Given the description of an element on the screen output the (x, y) to click on. 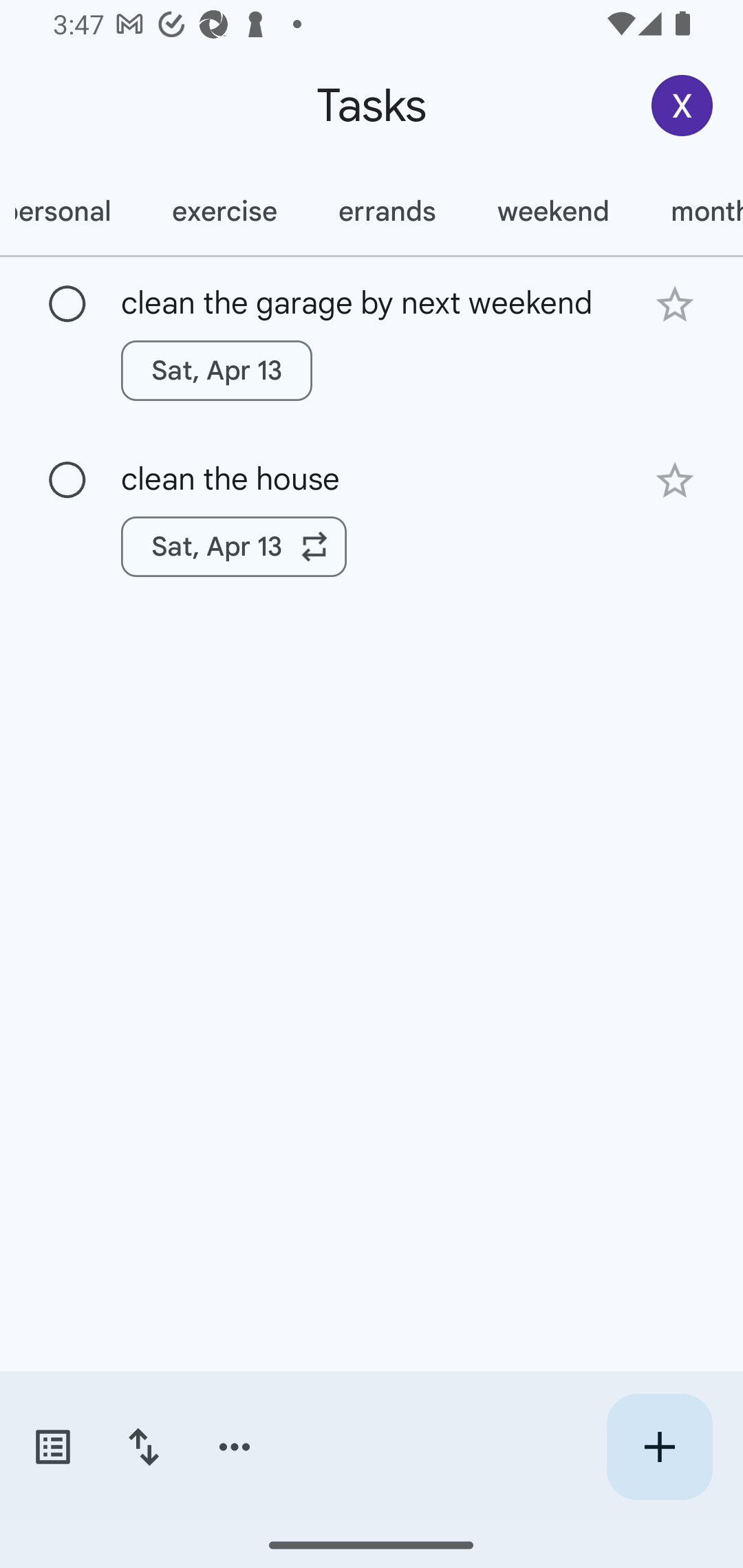
personal (70, 211)
exercise (224, 211)
errands (386, 211)
weekend (552, 211)
monthly (691, 211)
Add star (674, 303)
Mark as complete (67, 304)
Sat, Apr 13 (216, 369)
Add star (674, 480)
Mark as complete (67, 480)
Sat, Apr 13 (233, 546)
Switch task lists (52, 1447)
Create new task (659, 1446)
Change sort order (143, 1446)
More options (234, 1446)
